Given the description of an element on the screen output the (x, y) to click on. 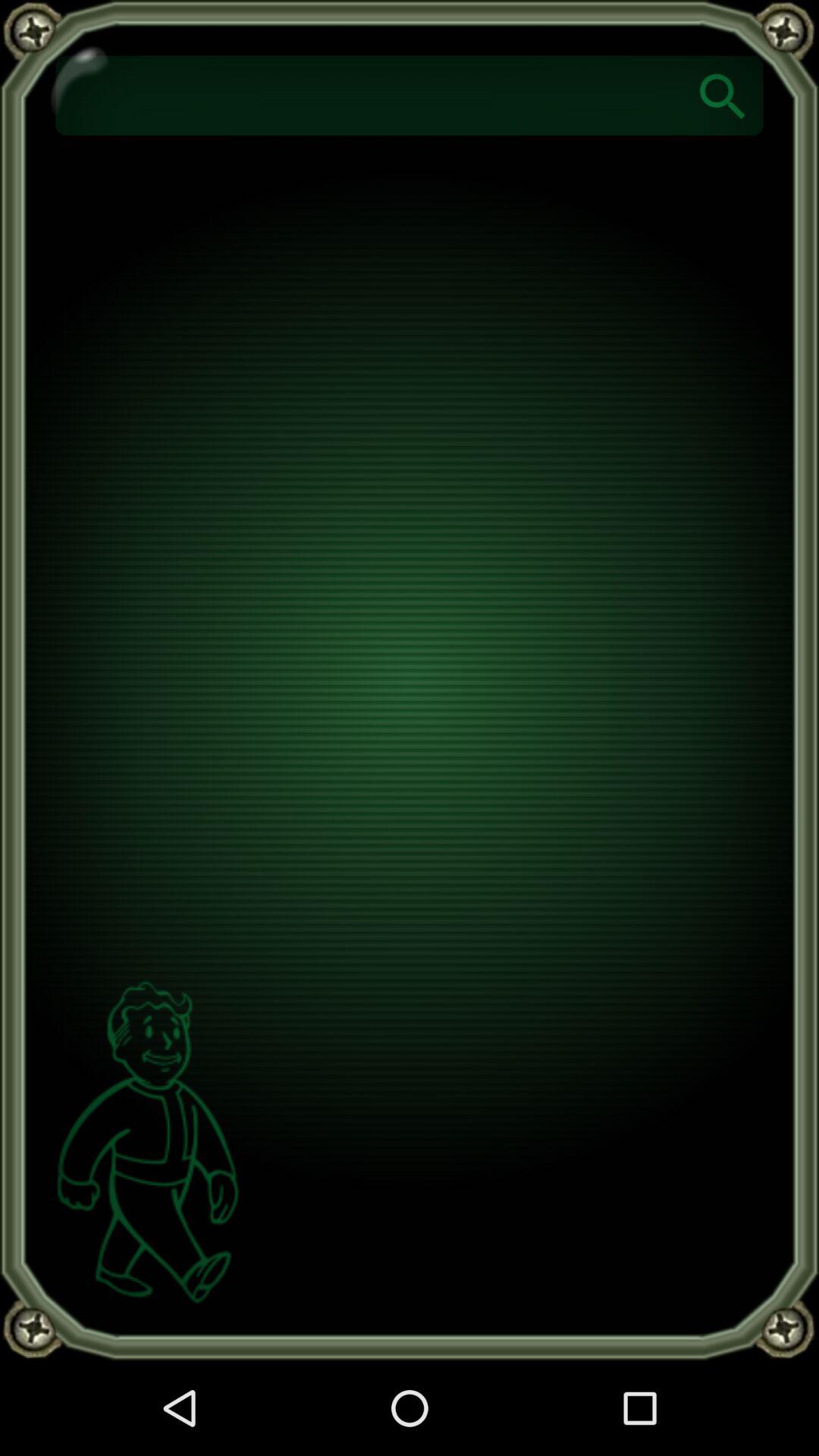
search of the option (723, 95)
